Given the description of an element on the screen output the (x, y) to click on. 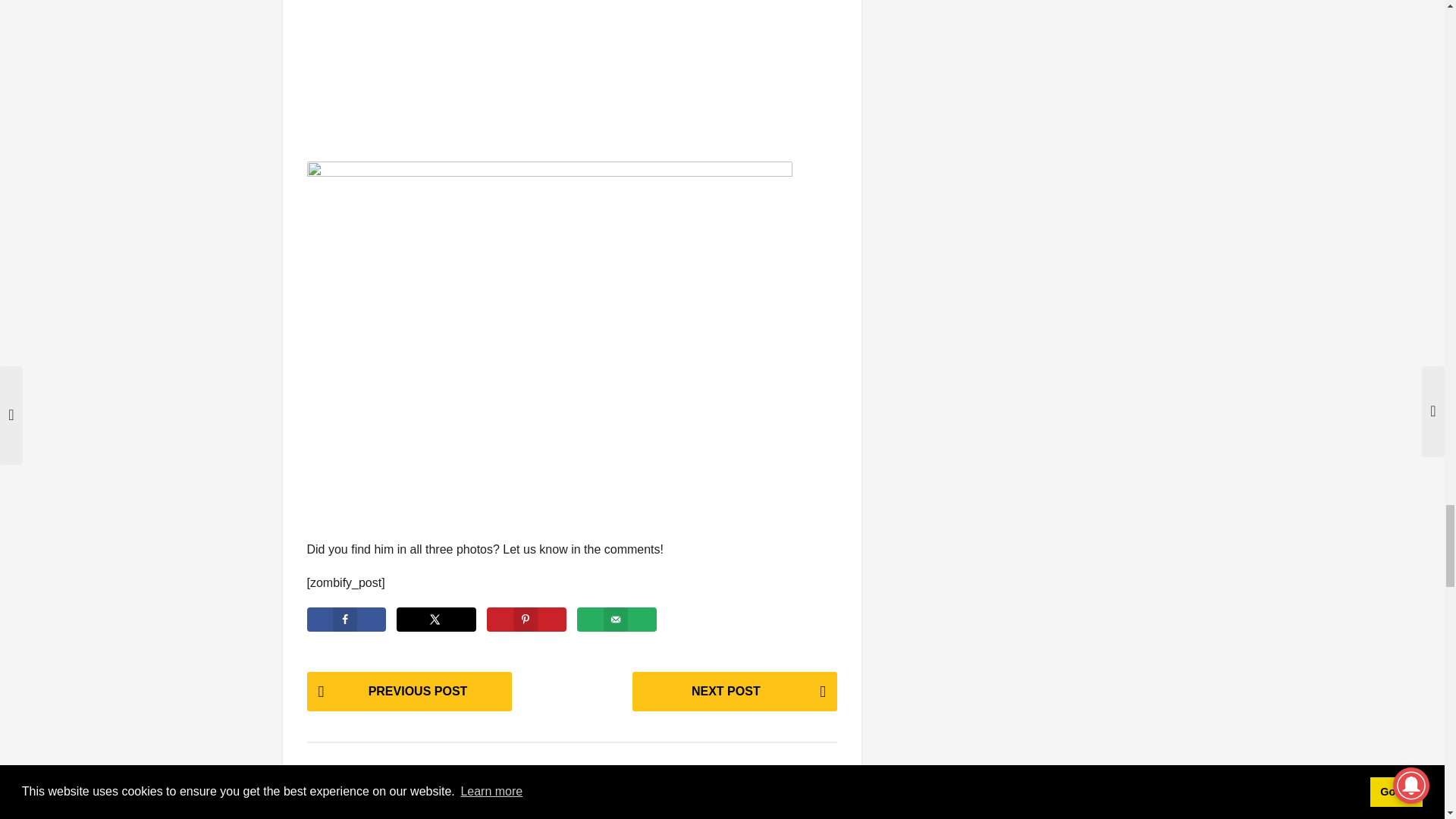
Save to Pinterest (526, 619)
Share on X (436, 619)
Send over email (616, 619)
Share on Facebook (345, 619)
